Given the description of an element on the screen output the (x, y) to click on. 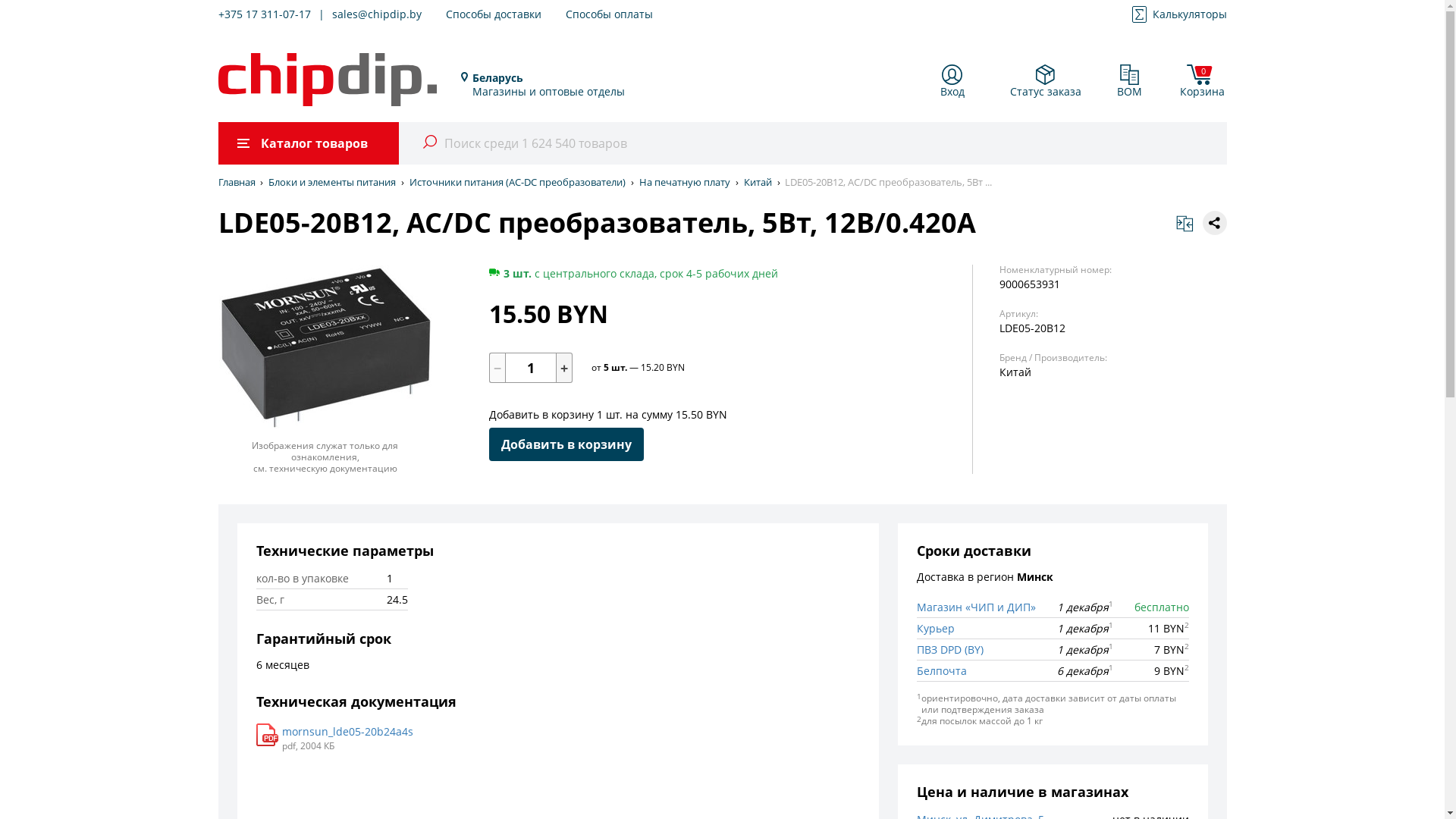
BOM Element type: text (1129, 81)
+375 17 311-07-17 Element type: text (264, 14)
mornsun_lde05-20b24a4s Element type: text (347, 731)
sales@chipdip.by Element type: text (376, 14)
+ Element type: text (564, 367)
